Given the description of an element on the screen output the (x, y) to click on. 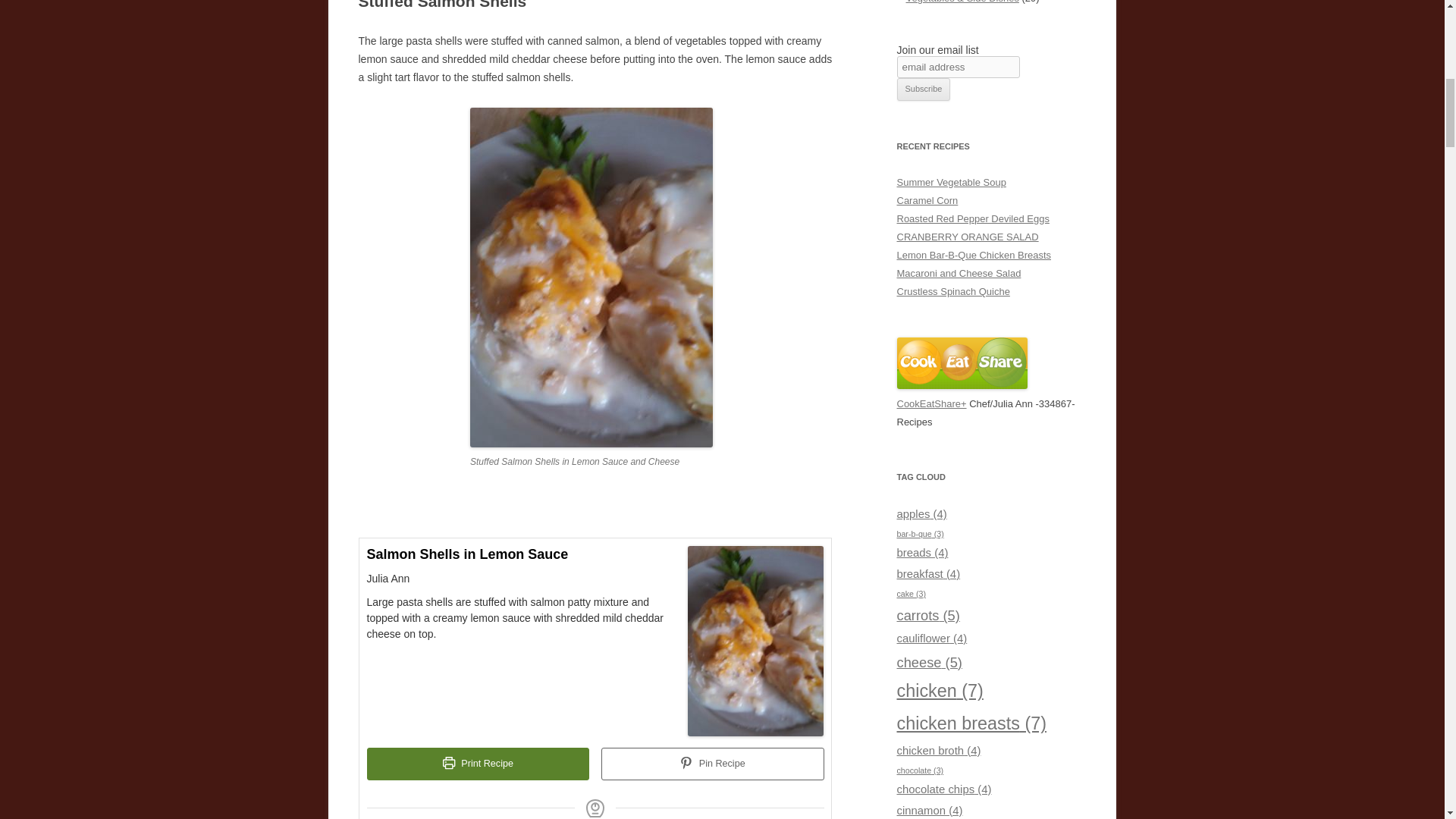
Pin Recipe (712, 763)
Subscribe (923, 88)
Print Recipe (477, 763)
